Given the description of an element on the screen output the (x, y) to click on. 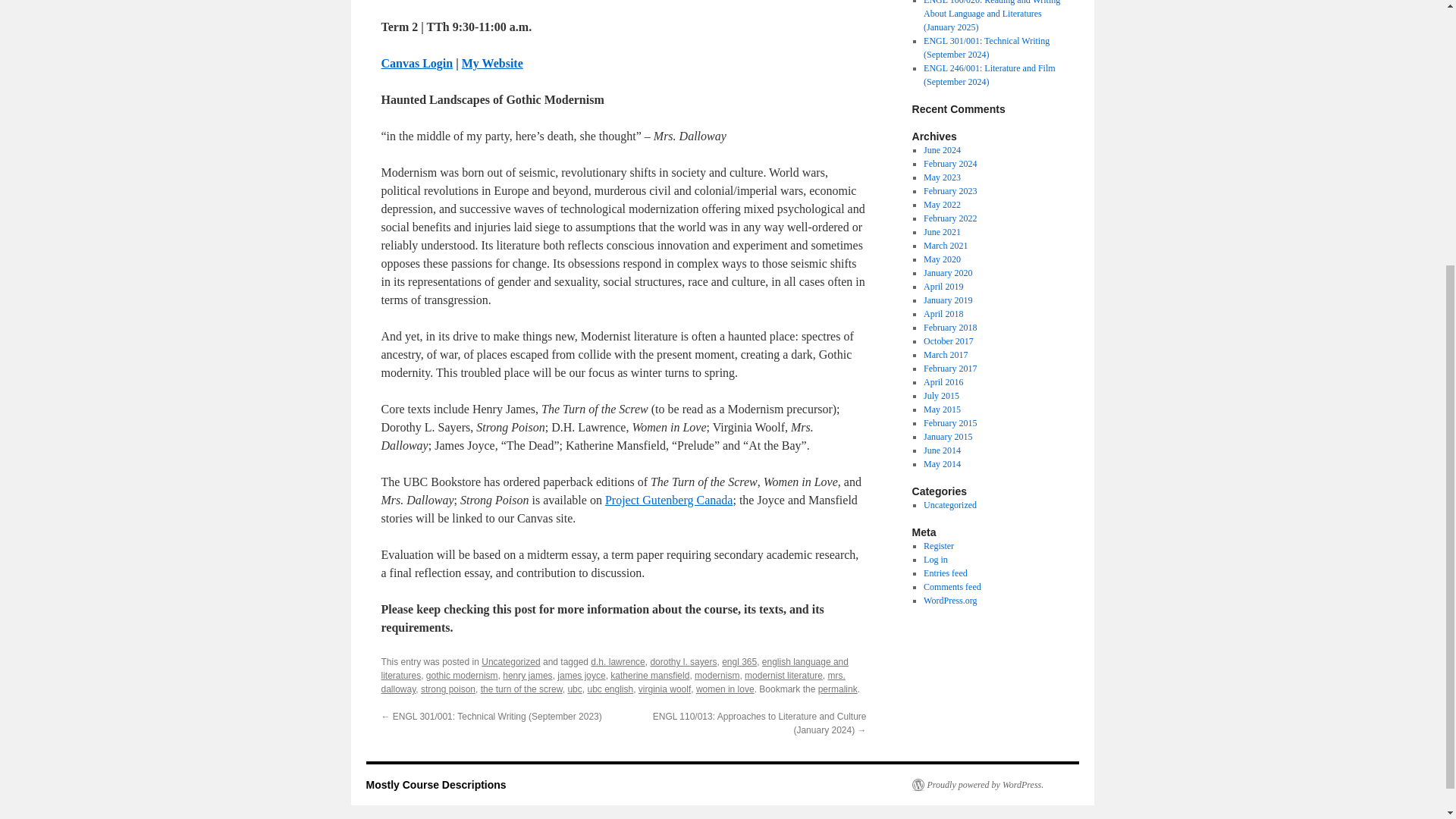
ubc (573, 688)
modernist literature (783, 675)
english language and literatures (613, 668)
henry james (526, 675)
Canvas Login (416, 62)
the turn of the screw (521, 688)
ubc english (609, 688)
d.h. lawrence (618, 661)
gothic modernism (461, 675)
engl 365 (739, 661)
katherine mansfield (649, 675)
dorothy l. sayers (682, 661)
My Website (491, 62)
james joyce (581, 675)
Uncategorized (510, 661)
